Given the description of an element on the screen output the (x, y) to click on. 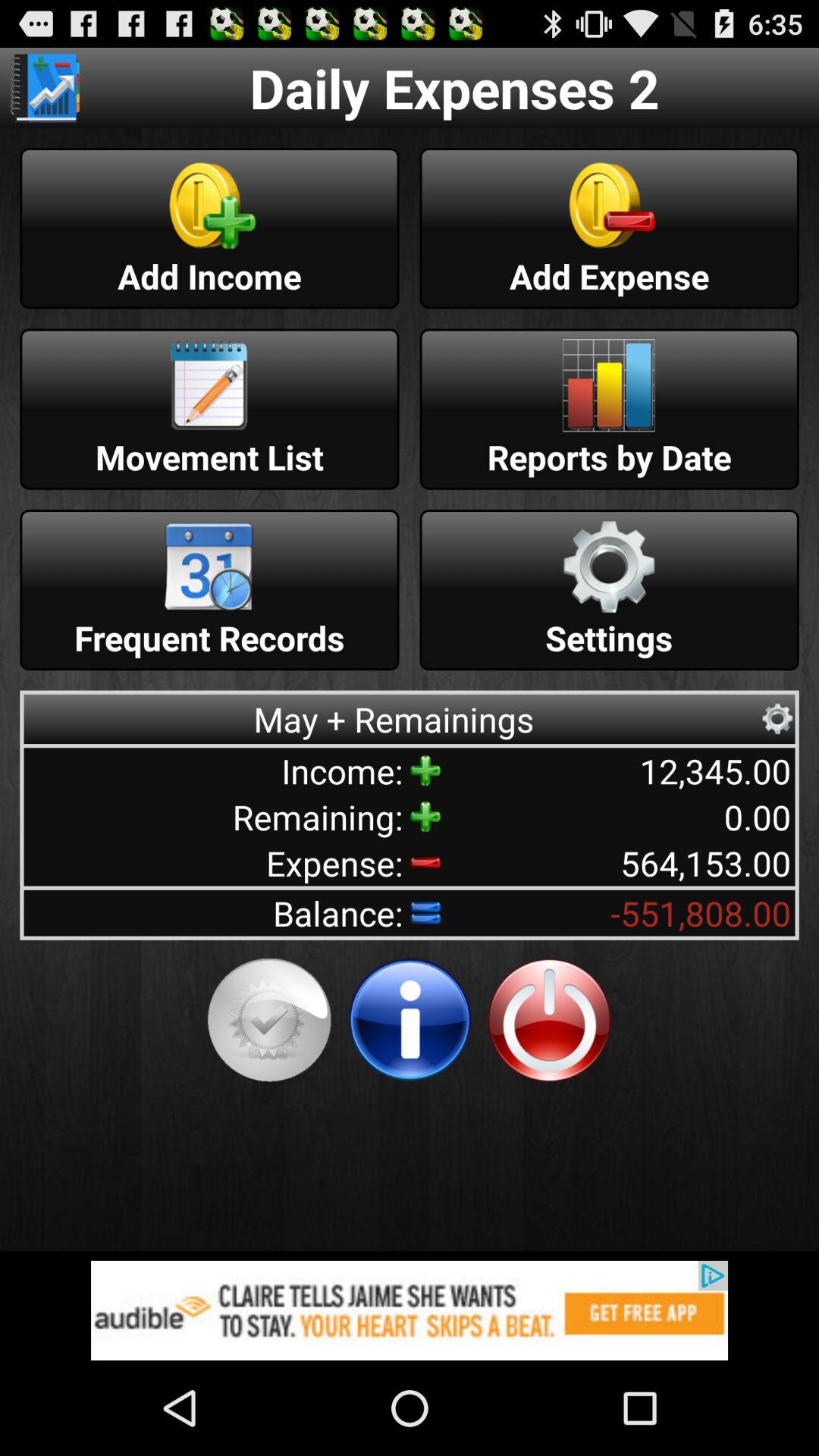
confirm selection (269, 1020)
